Given the description of an element on the screen output the (x, y) to click on. 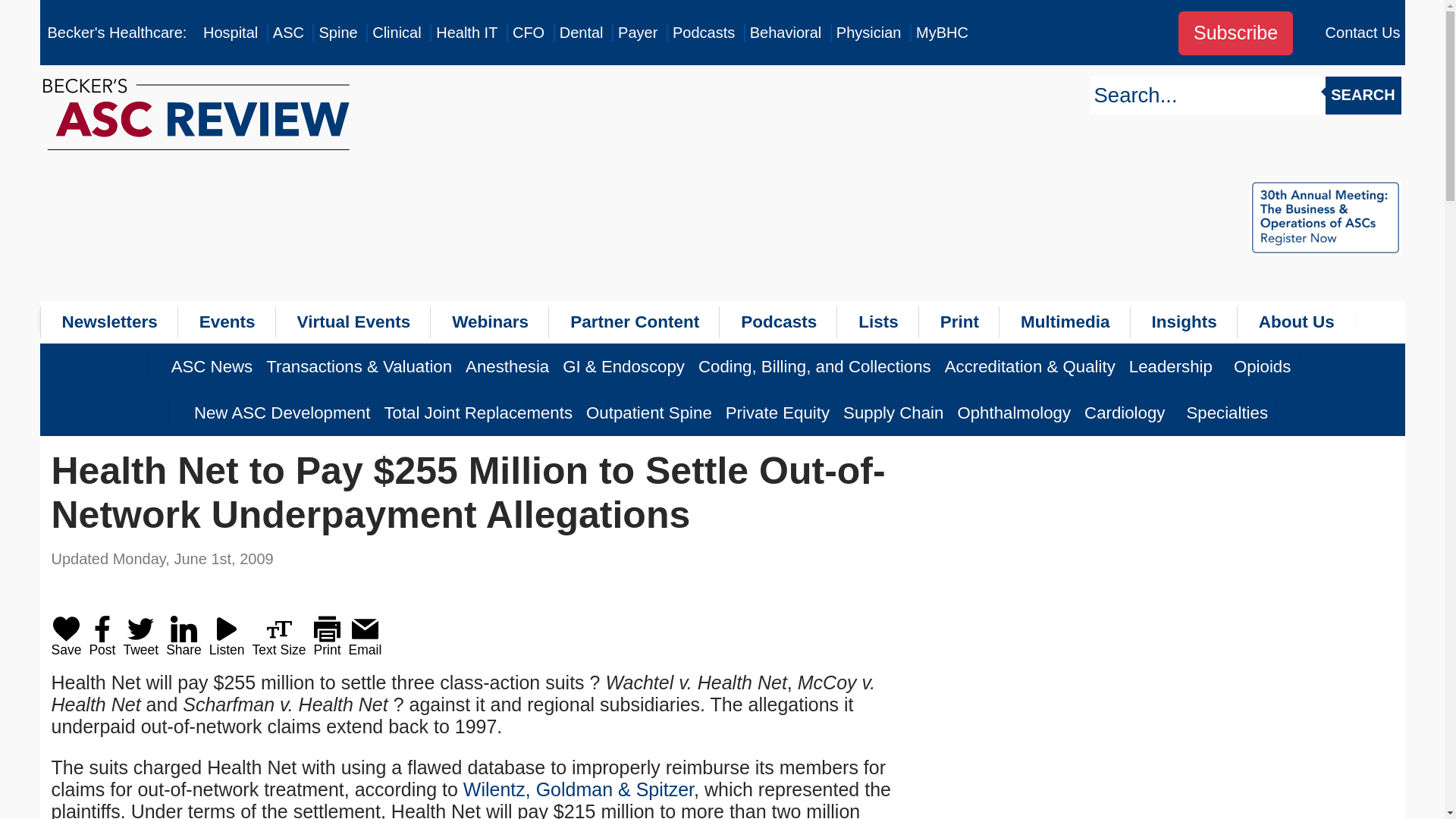
Becker's ASC Review (288, 32)
MyBHC (941, 32)
Subscribe (1234, 33)
CFO (528, 32)
Behavioral (785, 32)
Becker's Clinical (396, 32)
Physician (868, 32)
Spine (337, 32)
Health IT (466, 32)
Payer (637, 32)
